Given the description of an element on the screen output the (x, y) to click on. 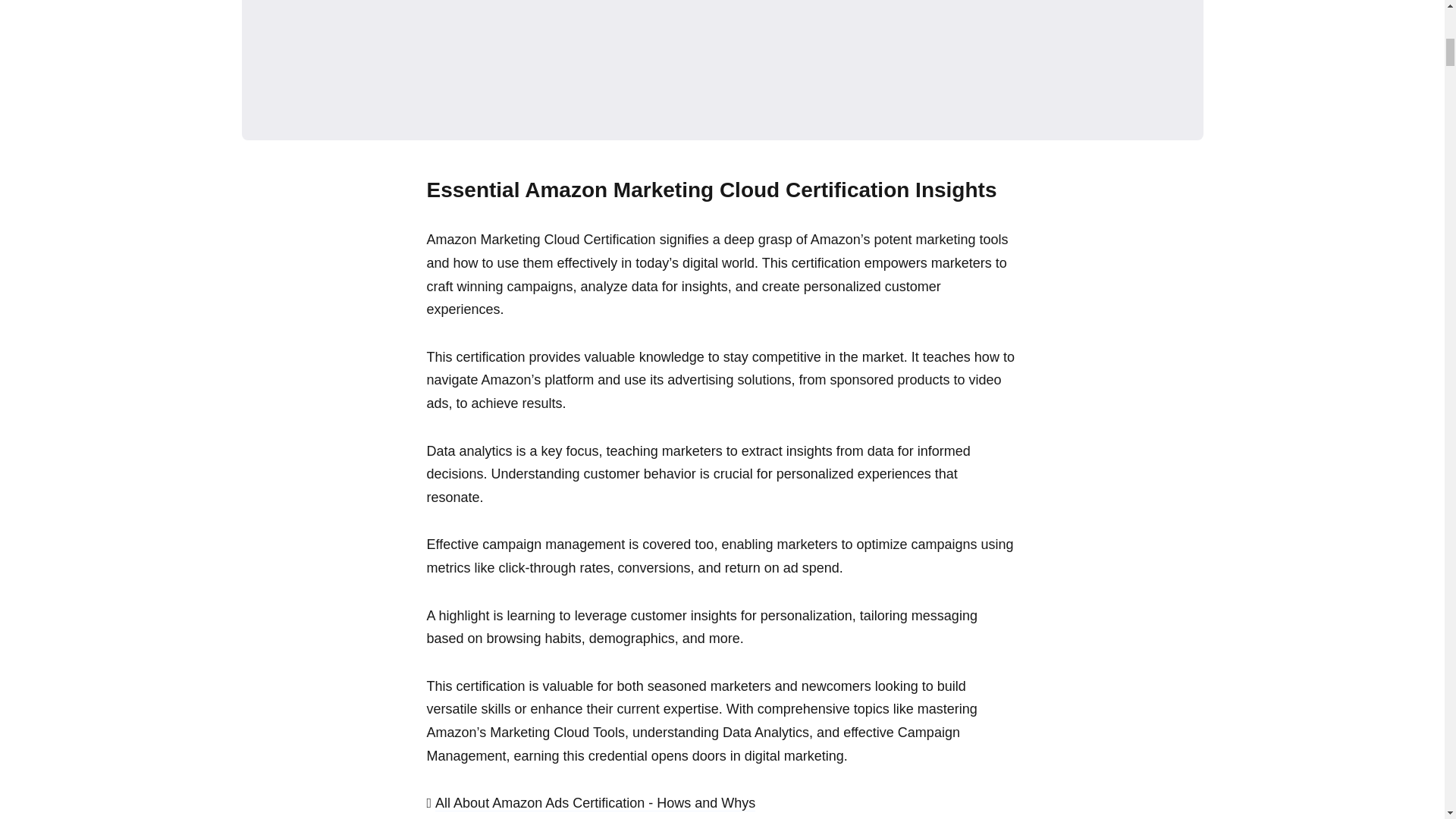
All About Amazon Ads Certification - Hows and Whys (595, 809)
